Given the description of an element on the screen output the (x, y) to click on. 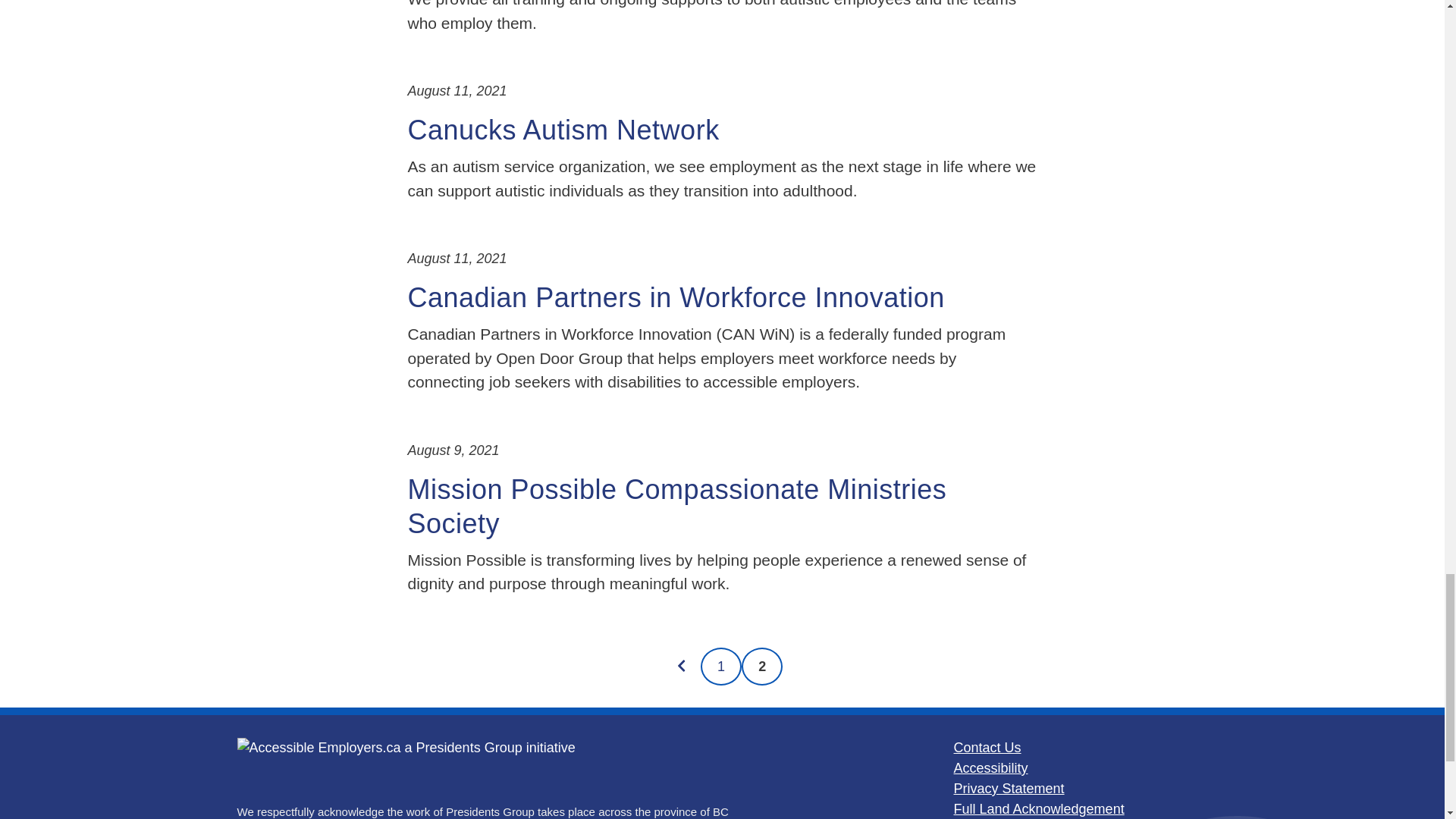
Canucks Autism Network (563, 129)
Accessibility (990, 767)
Mission Possible Compassionate Ministries Society (677, 505)
Full Land Acknowledgement (1038, 808)
previous (681, 666)
Canadian Partners in Workforce Innovation (675, 296)
1 (720, 666)
Privacy Statement (1008, 788)
Contact Us (987, 747)
